Given the description of an element on the screen output the (x, y) to click on. 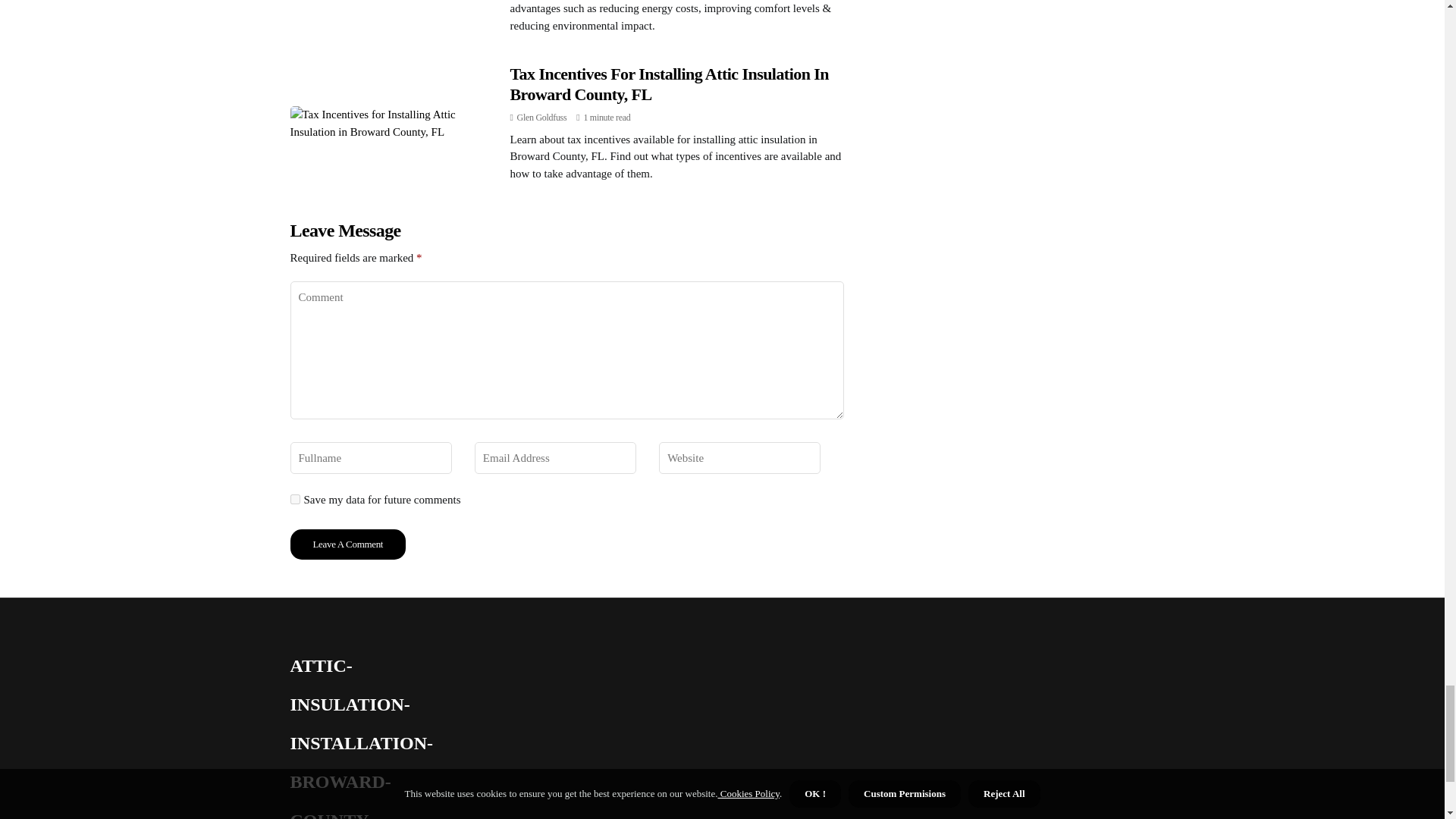
Leave a Comment (347, 544)
Glen Goldfuss (541, 117)
Leave a Comment (347, 544)
Posts by Glen Goldfuss (541, 117)
yes (294, 499)
